Given the description of an element on the screen output the (x, y) to click on. 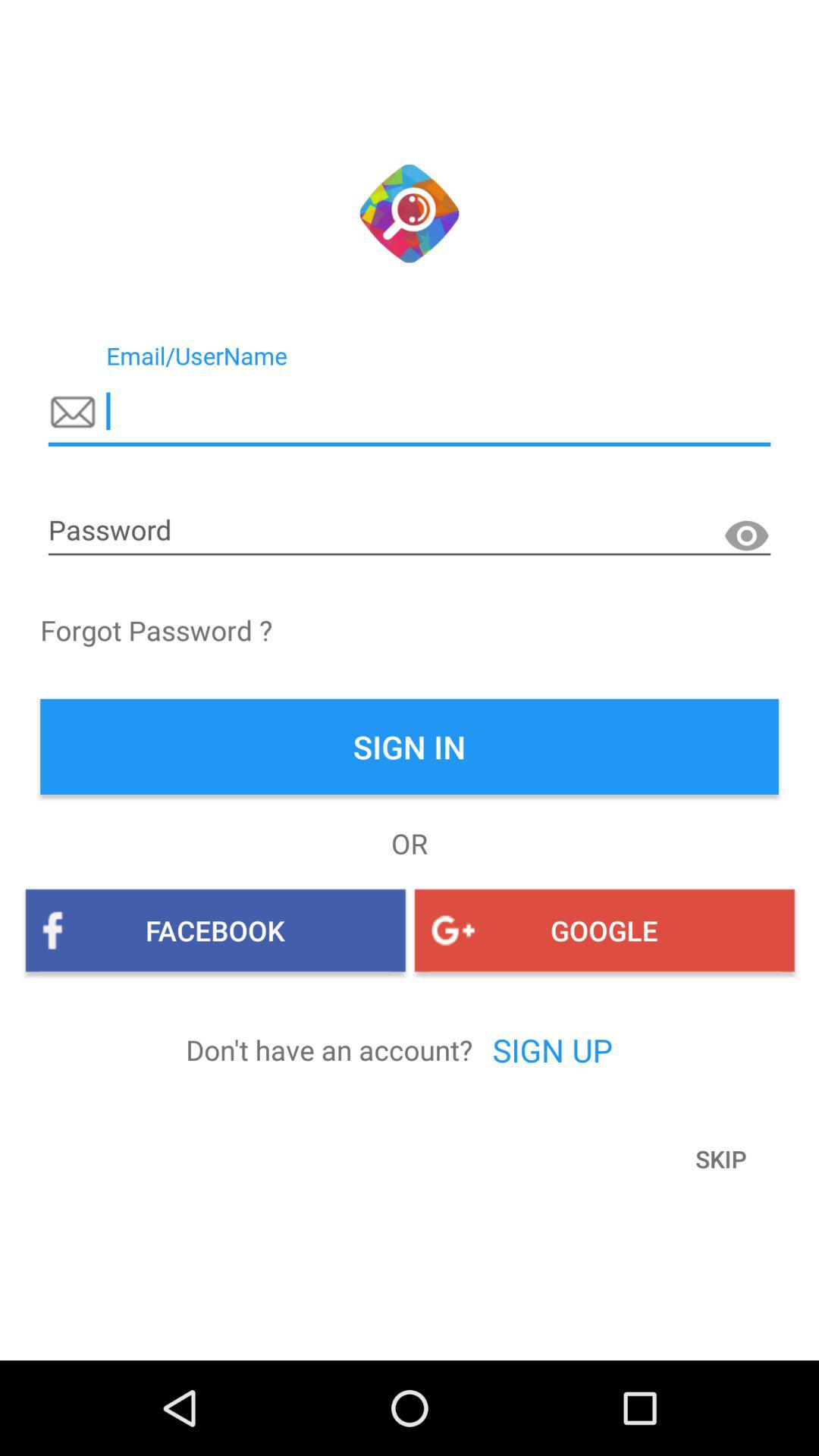
enter your password (409, 531)
